Given the description of an element on the screen output the (x, y) to click on. 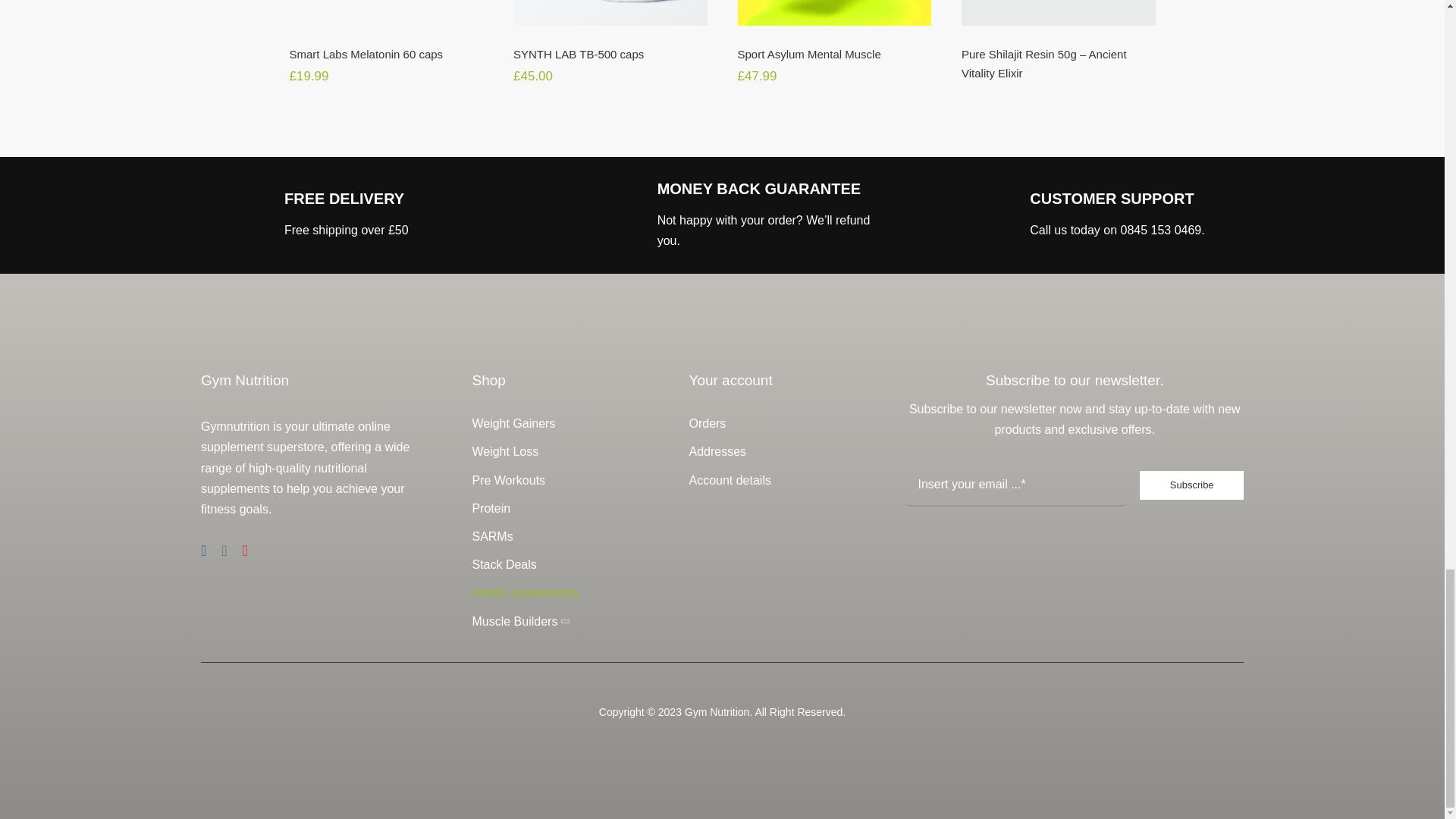
Subscribe (1074, 493)
